Given the description of an element on the screen output the (x, y) to click on. 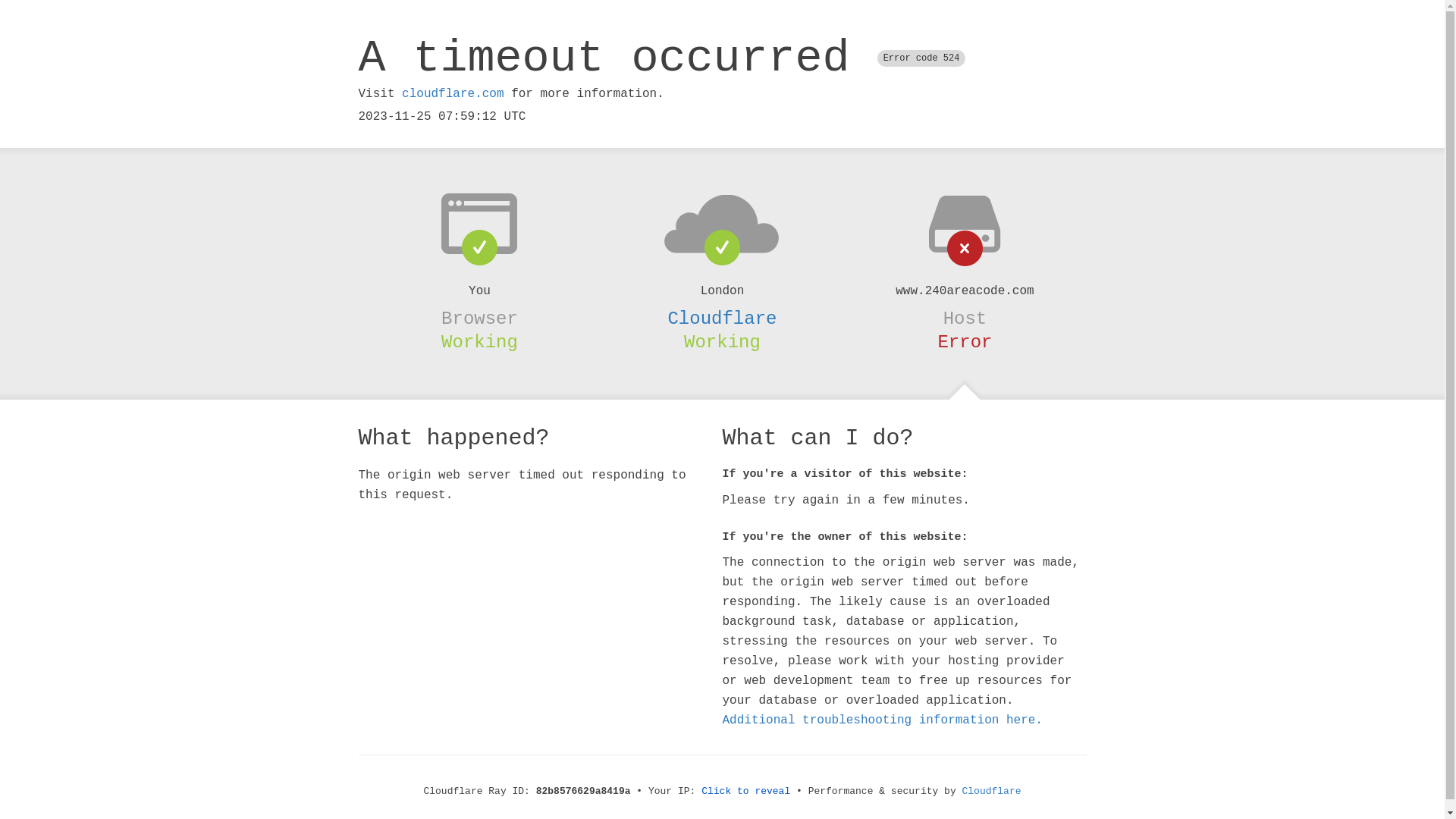
Additional troubleshooting information here. Element type: text (881, 720)
Cloudflare Element type: text (721, 318)
Click to reveal Element type: text (745, 791)
Cloudflare Element type: text (991, 791)
cloudflare.com Element type: text (452, 93)
